Given the description of an element on the screen output the (x, y) to click on. 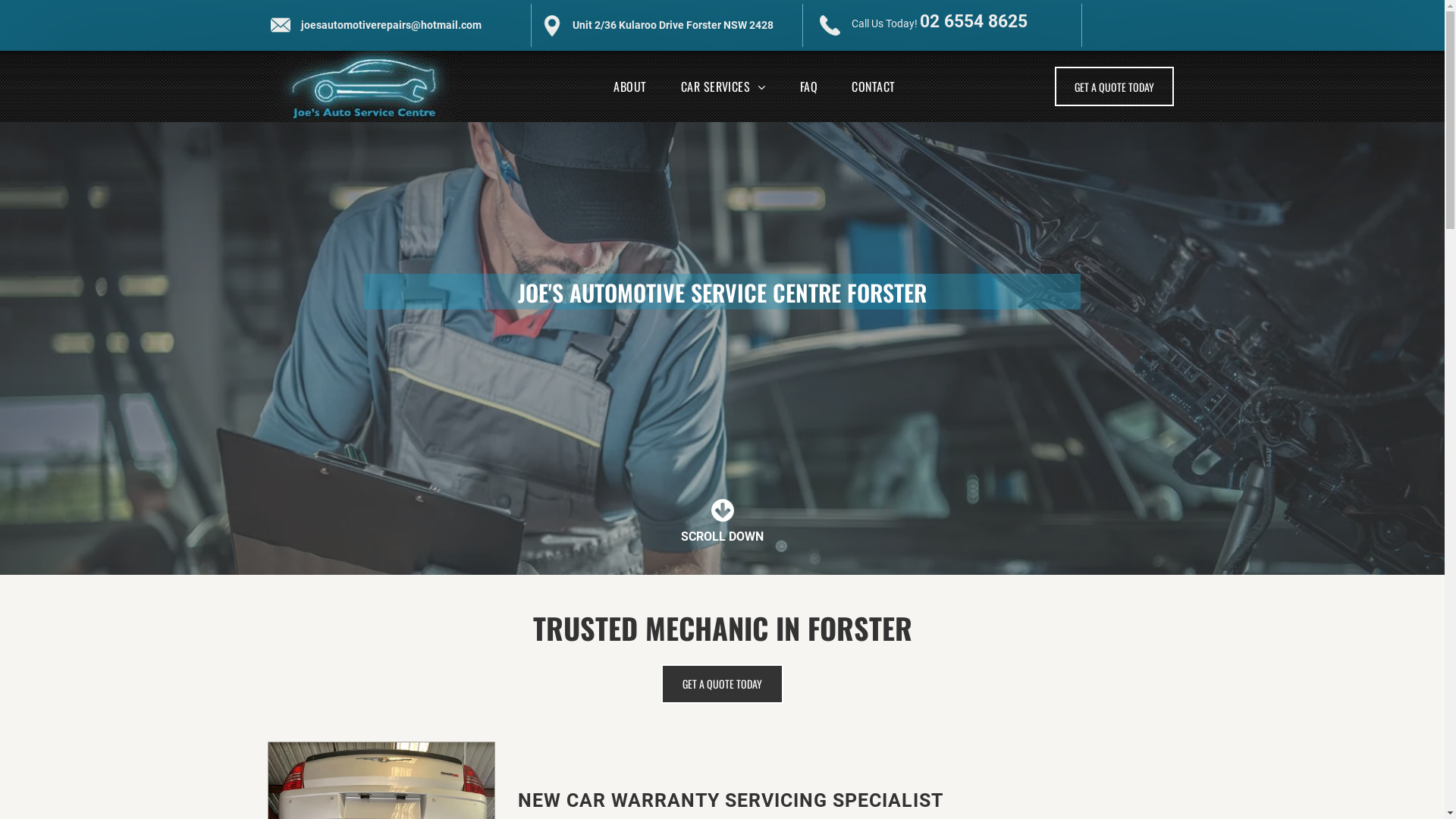
FAQ Element type: text (808, 86)
ABOUT Element type: text (629, 86)
CAR SERVICES Element type: text (723, 86)
CONTACT Element type: text (873, 86)
Phone Icon Element type: hover (829, 25)
GET A QUOTE TODAY Element type: text (1113, 86)
Email Icon Element type: hover (280, 24)
Arrow Down Icon Element type: hover (722, 509)
Trusted Mechanic in Forster Element type: hover (363, 85)
02 6554 8625 Element type: text (973, 21)
Location Pin Icon Element type: hover (551, 25)
Unit 2/36 Kularoo Drive Forster NSW 2428 Element type: text (672, 24)
joesautomotiverepairs@hotmail.com Element type: text (391, 24)
GET A QUOTE TODAY Element type: text (722, 683)
